Given the description of an element on the screen output the (x, y) to click on. 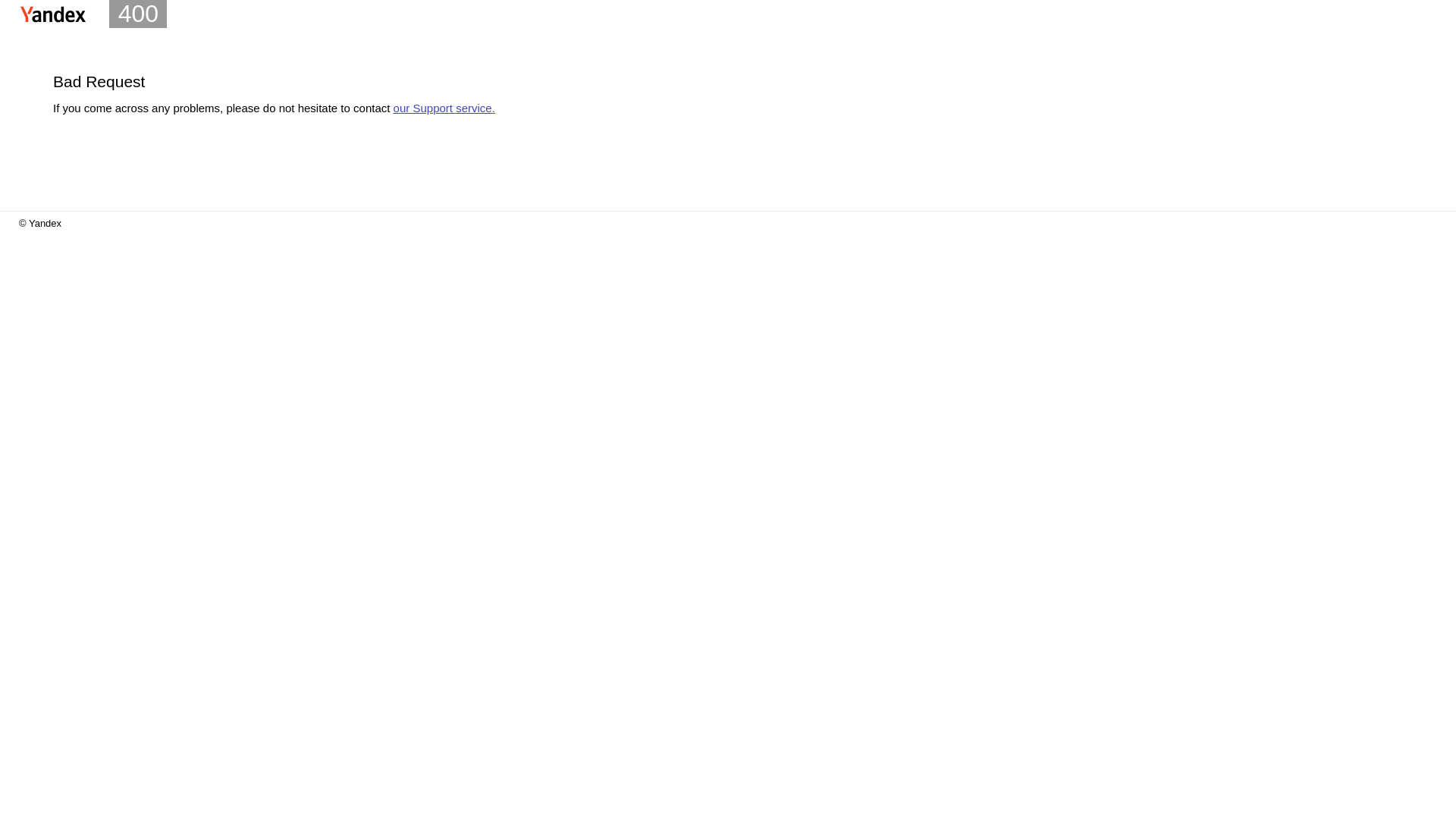
our Support service. Element type: text (444, 107)
Yandex Element type: text (52, 14)
